Given the description of an element on the screen output the (x, y) to click on. 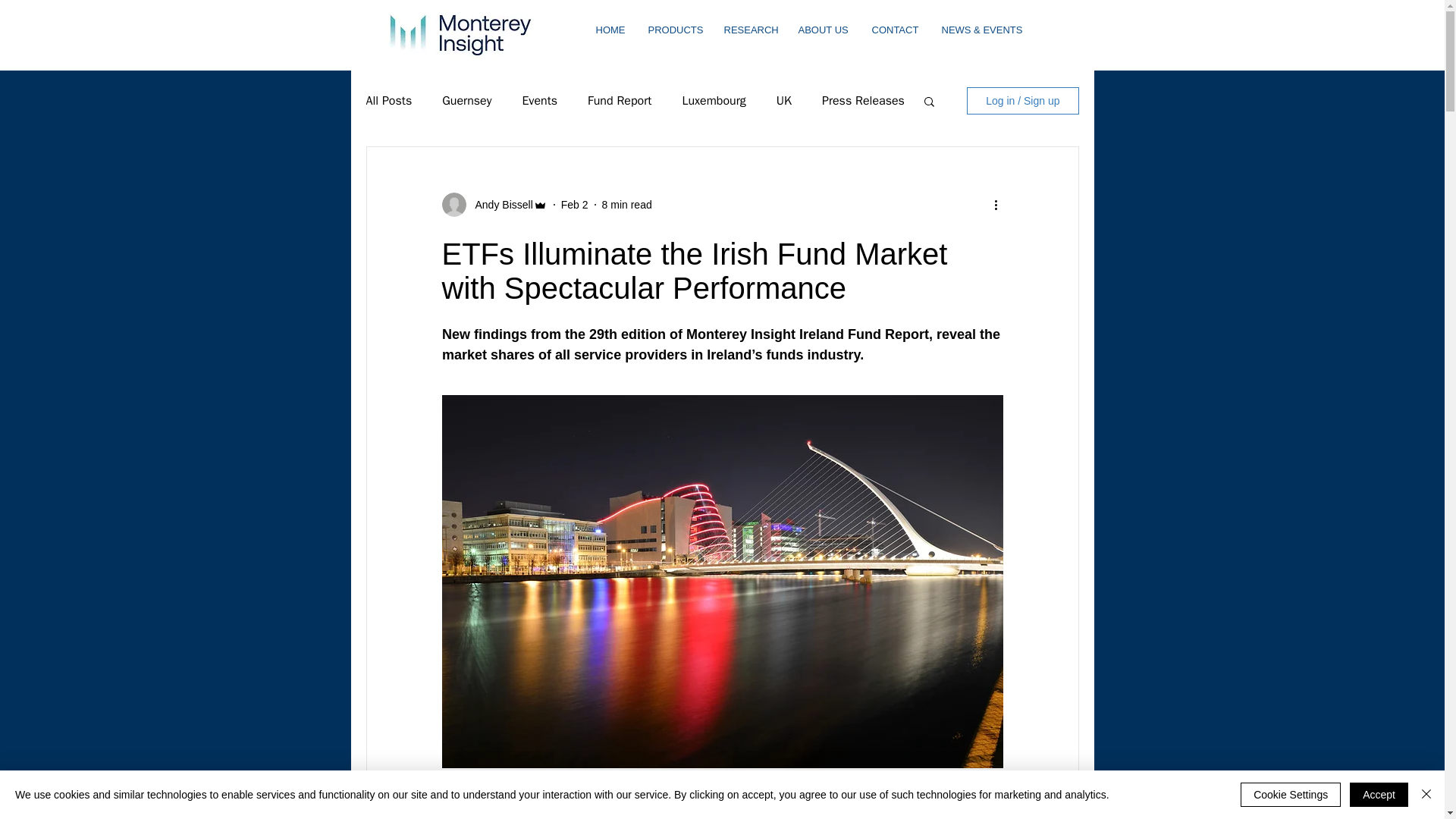
CONTACT (895, 29)
Press Releases (863, 100)
8 min read (627, 204)
Feb 2 (574, 204)
Andy Bissell (498, 204)
HOME (609, 29)
Guernsey (467, 100)
All Posts (388, 100)
Events (539, 100)
ABOUT US (823, 29)
